Given the description of an element on the screen output the (x, y) to click on. 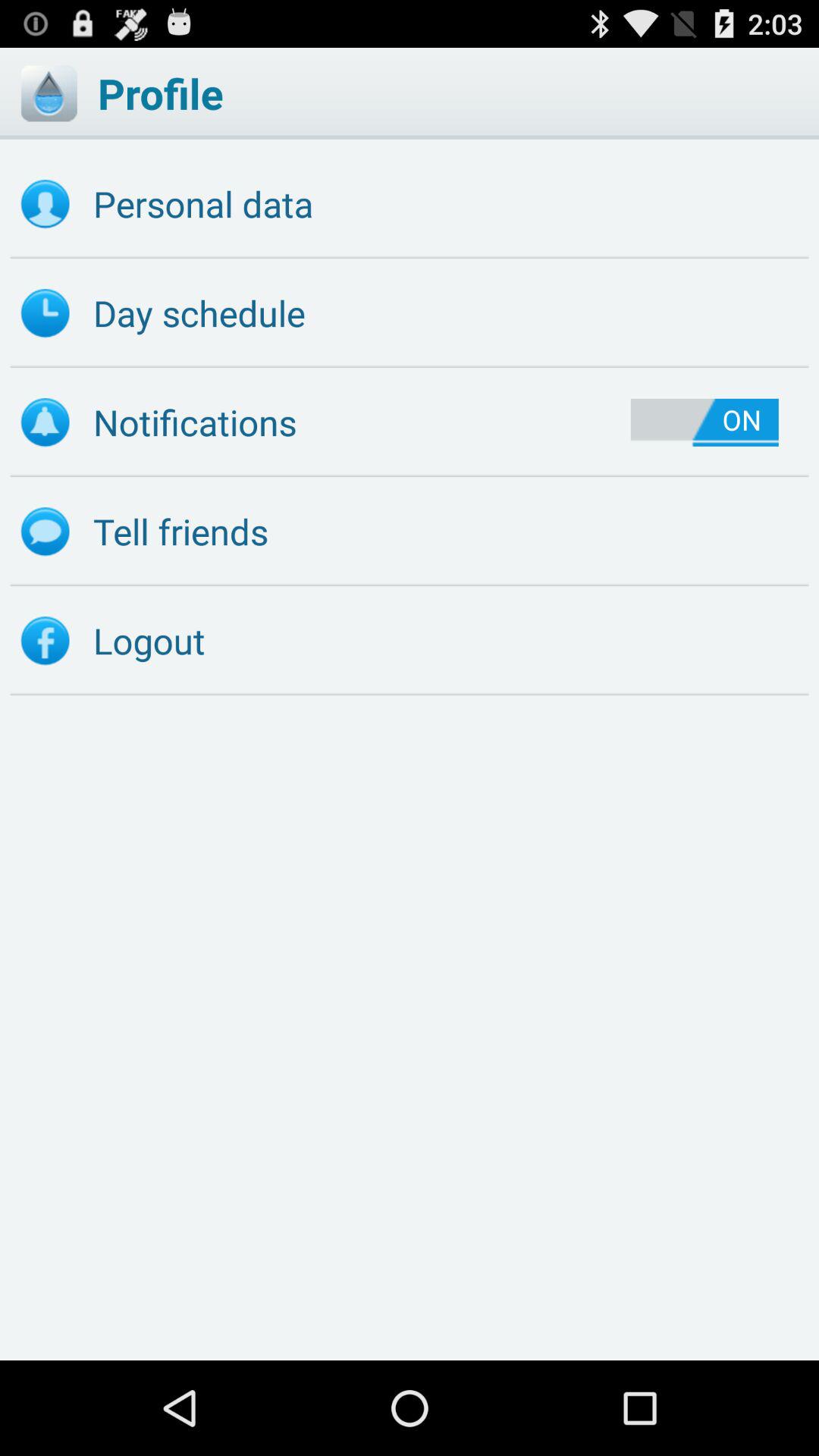
swipe until tell friends (409, 531)
